Given the description of an element on the screen output the (x, y) to click on. 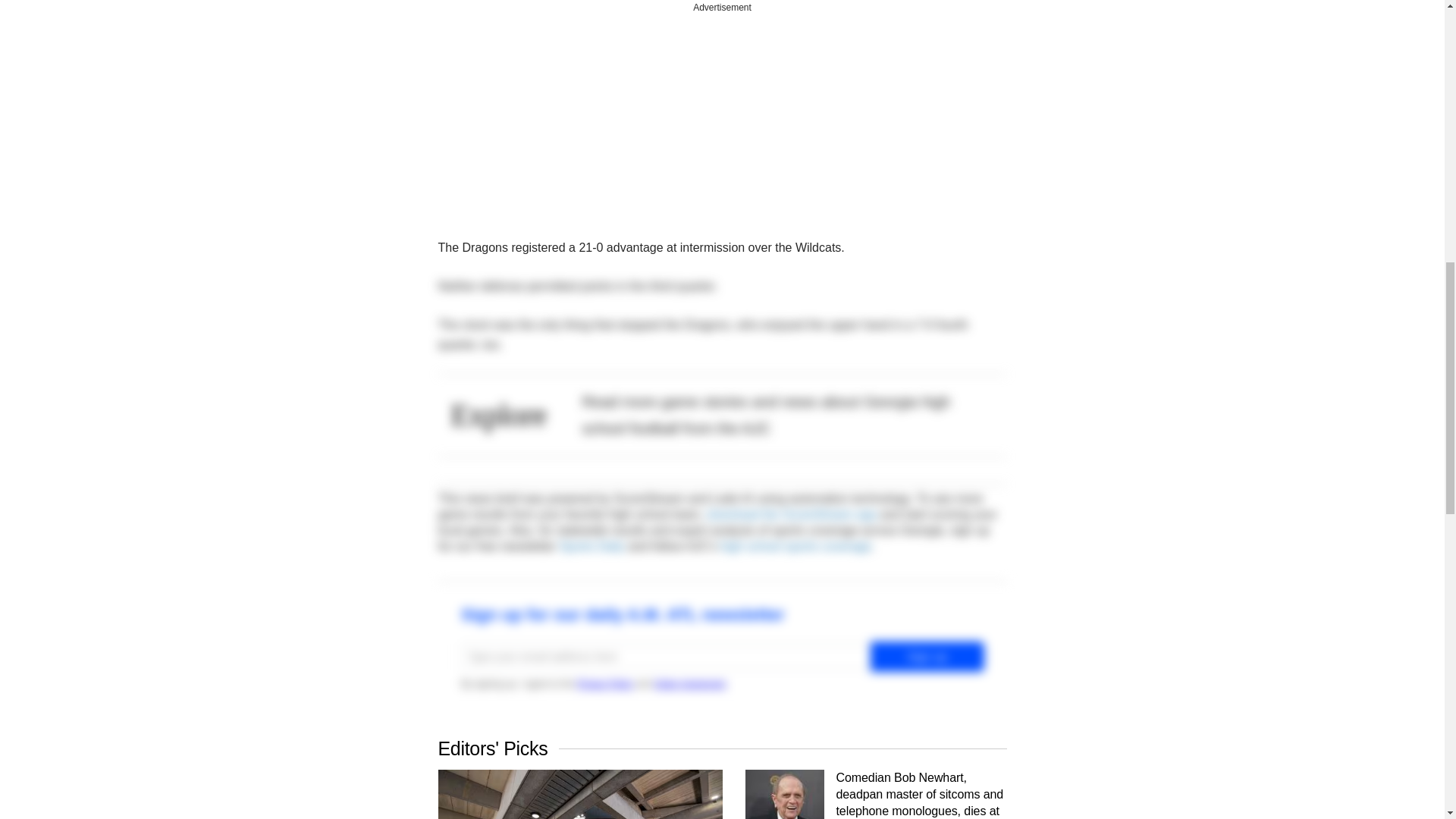
3rd party ad content (721, 113)
